Given the description of an element on the screen output the (x, y) to click on. 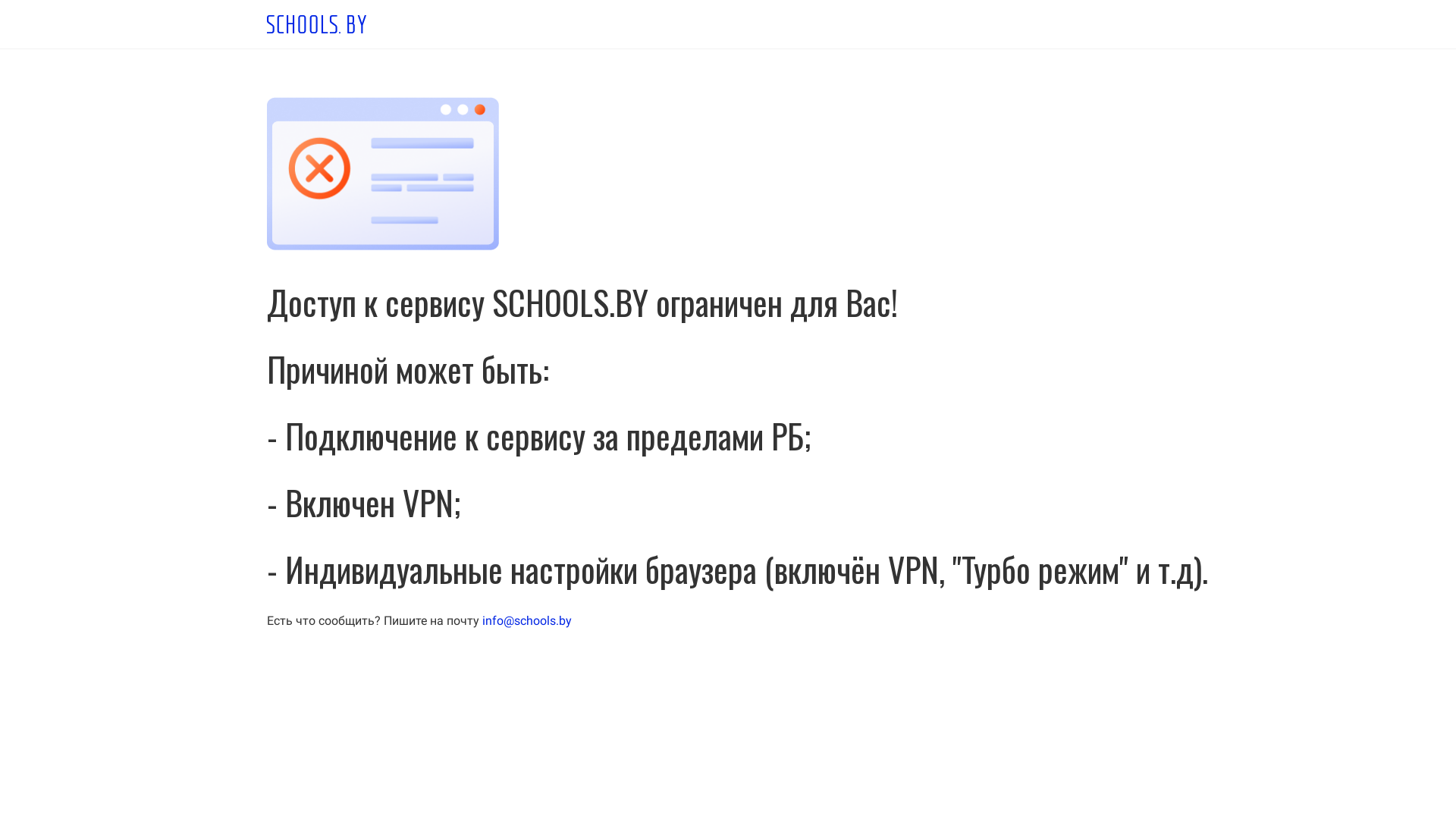
info@schools.by Element type: text (526, 620)
